Given the description of an element on the screen output the (x, y) to click on. 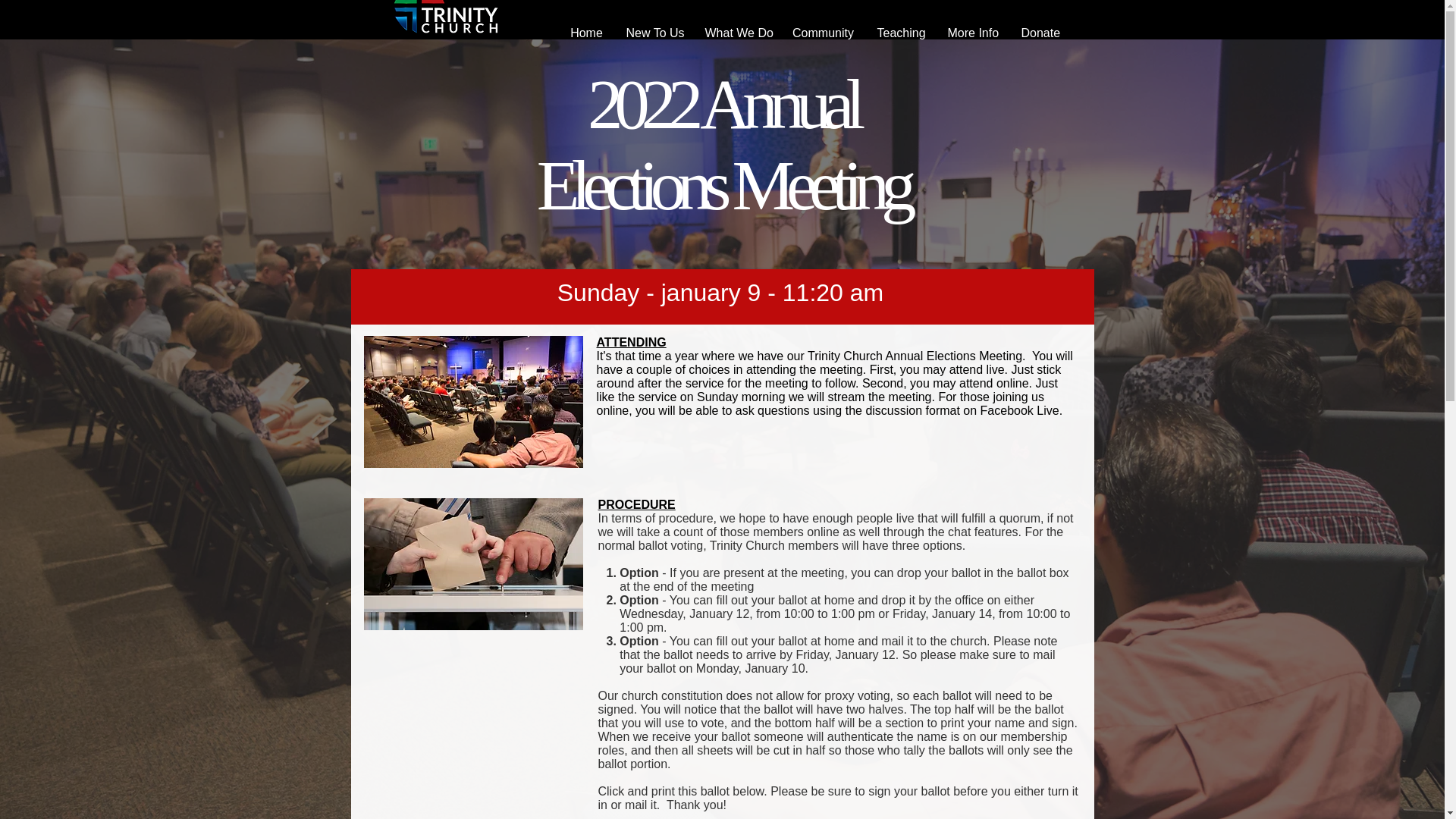
New To Us (653, 32)
Home (585, 32)
Donate (1040, 32)
What We Do (736, 32)
Community (823, 32)
